Given the description of an element on the screen output the (x, y) to click on. 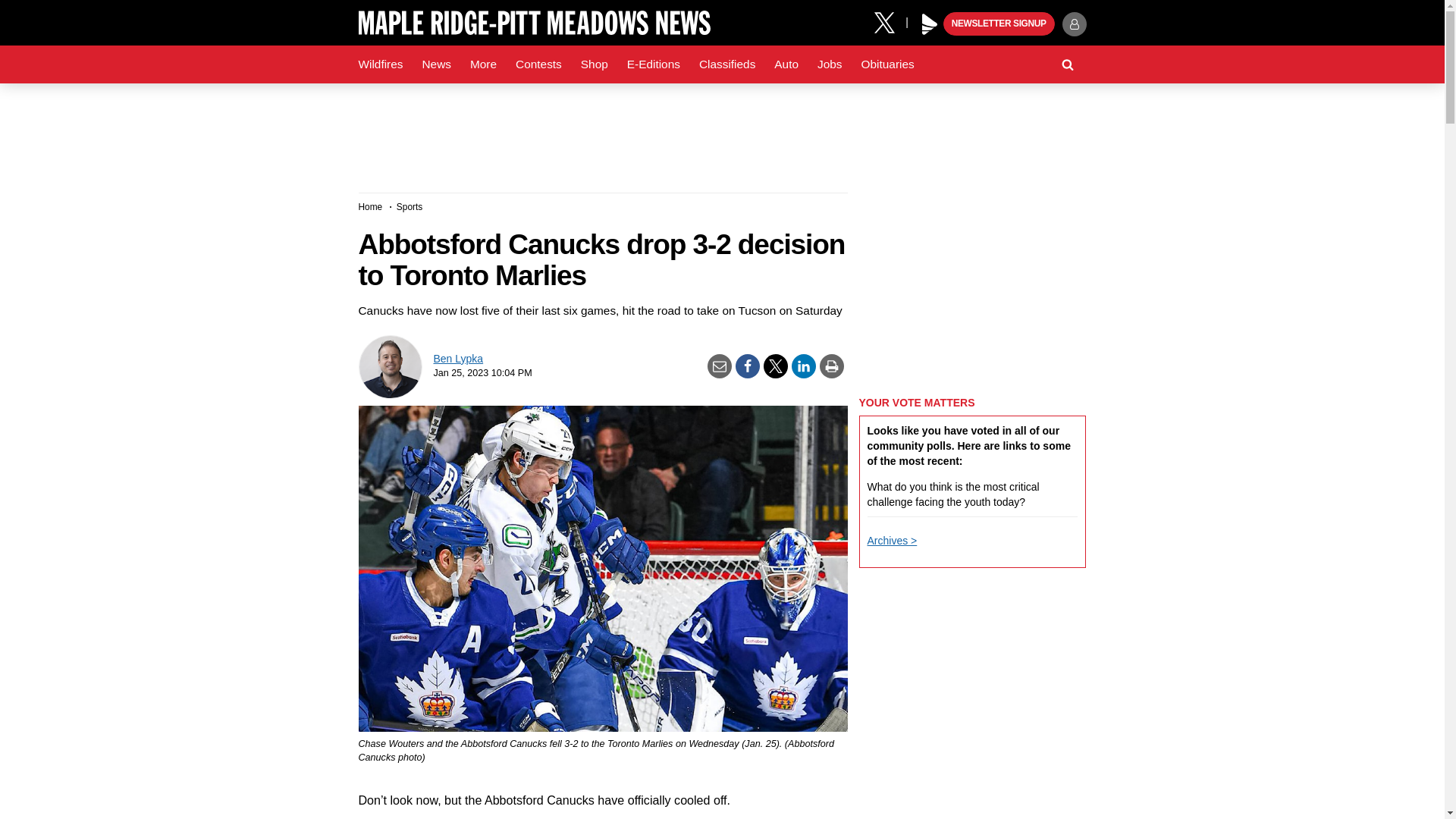
Black Press Media (929, 24)
News (435, 64)
Wildfires (380, 64)
Play (929, 24)
X (889, 21)
NEWSLETTER SIGNUP (998, 24)
